Given the description of an element on the screen output the (x, y) to click on. 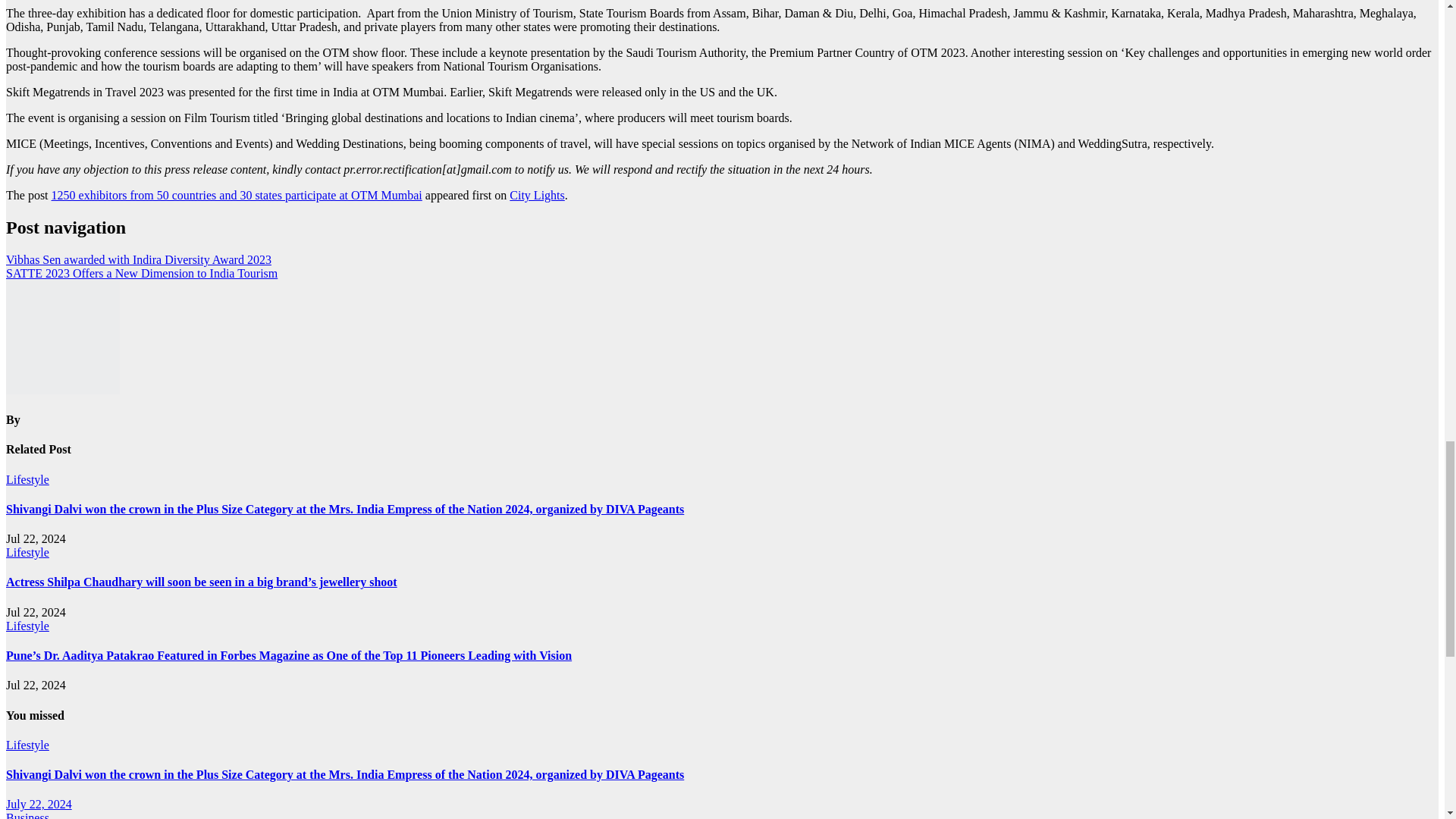
Lifestyle (27, 479)
Lifestyle (27, 552)
City Lights (536, 195)
